Given the description of an element on the screen output the (x, y) to click on. 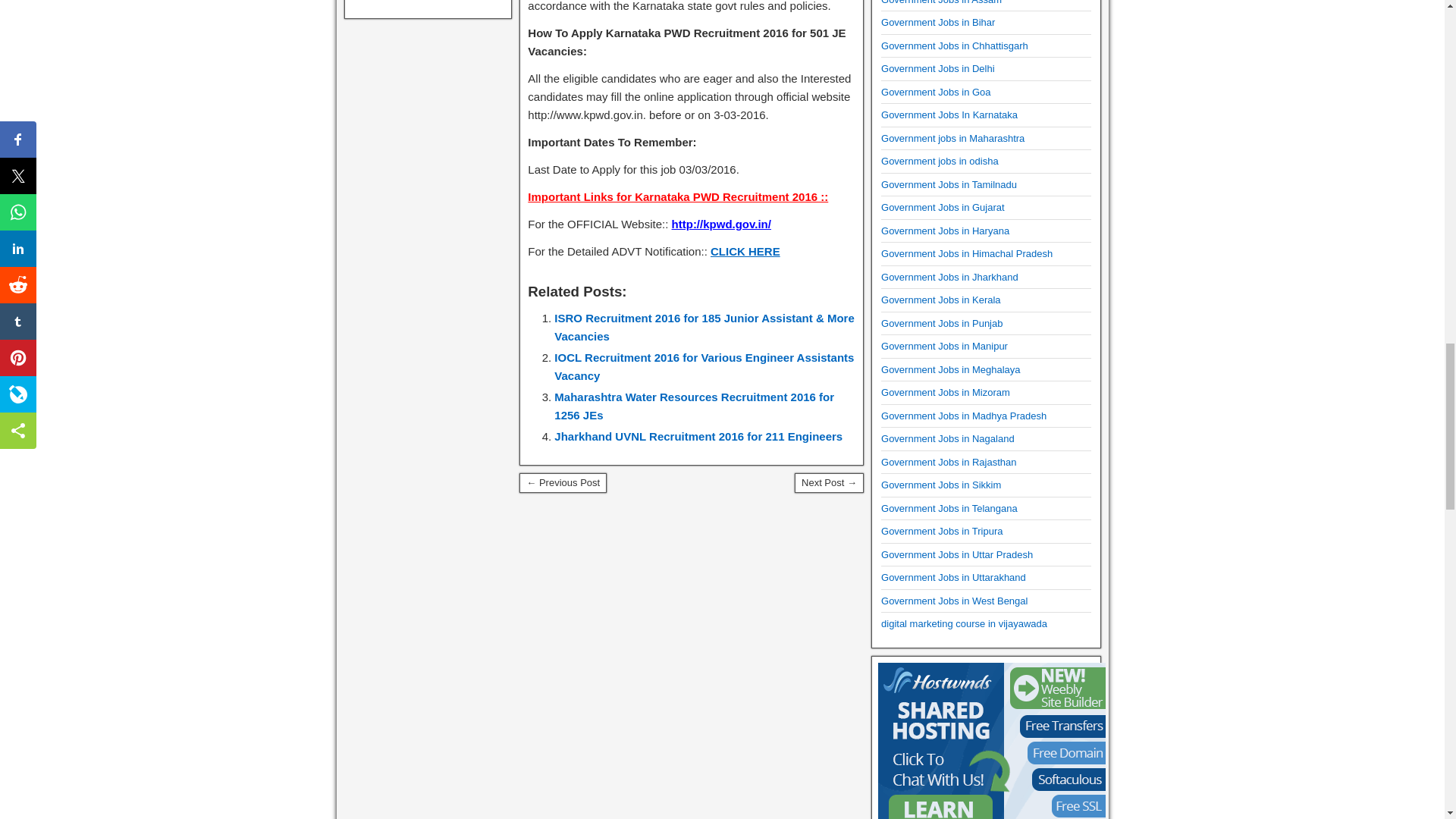
CLICK HERE (745, 250)
Telangana State Police Recruitment 2016 for 510 Vacancies (828, 483)
Jharkhand UVNL Recruitment 2016 for 211 Engineers (698, 436)
Maharashtra Water Resources Recruitment 2016 for 1256 JEs (694, 405)
Maharashtra Water Resources Recruitment 2016 for 1256 JEs (694, 405)
Jharkhand UVNL Recruitment 2016 for 211 Engineers (698, 436)
